Given the description of an element on the screen output the (x, y) to click on. 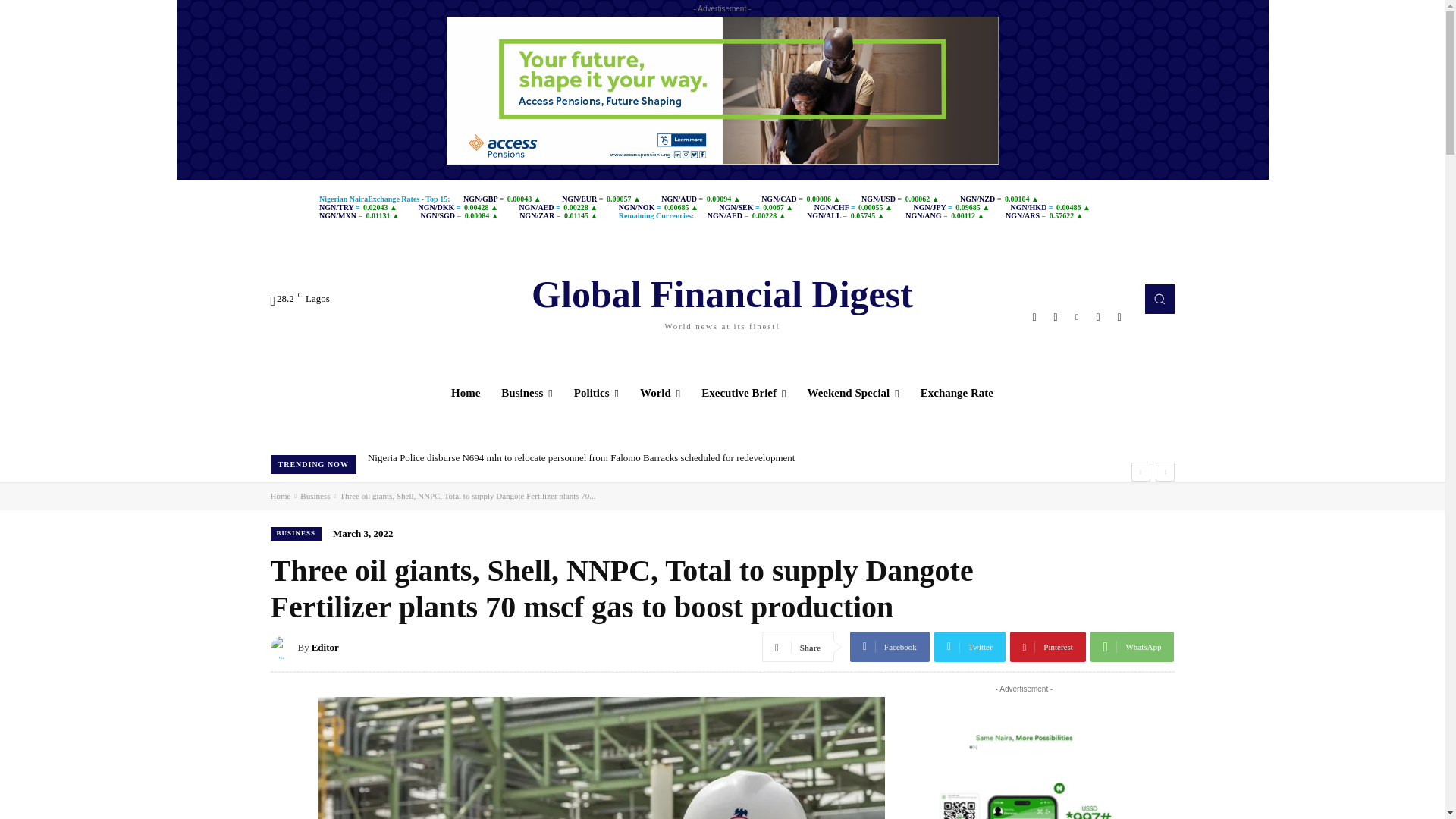
Business (526, 392)
Twitter (1097, 316)
Youtube (1118, 316)
Instagram (1055, 316)
Facebook (722, 298)
Linkedin (1034, 316)
Home (1076, 316)
